Given the description of an element on the screen output the (x, y) to click on. 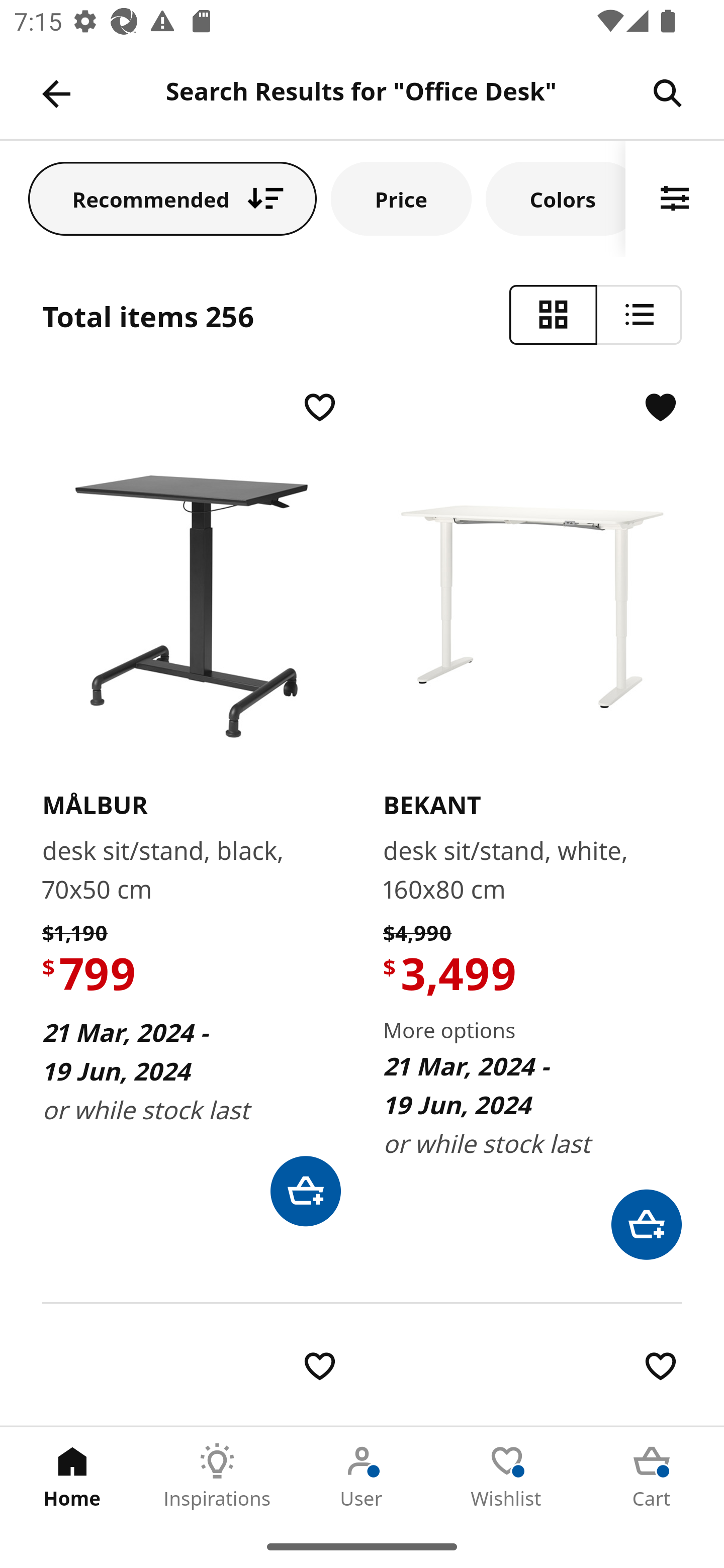
Recommended (172, 198)
Price (400, 198)
Colors (555, 198)
Home
Tab 1 of 5 (72, 1476)
Inspirations
Tab 2 of 5 (216, 1476)
User
Tab 3 of 5 (361, 1476)
Wishlist
Tab 4 of 5 (506, 1476)
Cart
Tab 5 of 5 (651, 1476)
